Given the description of an element on the screen output the (x, y) to click on. 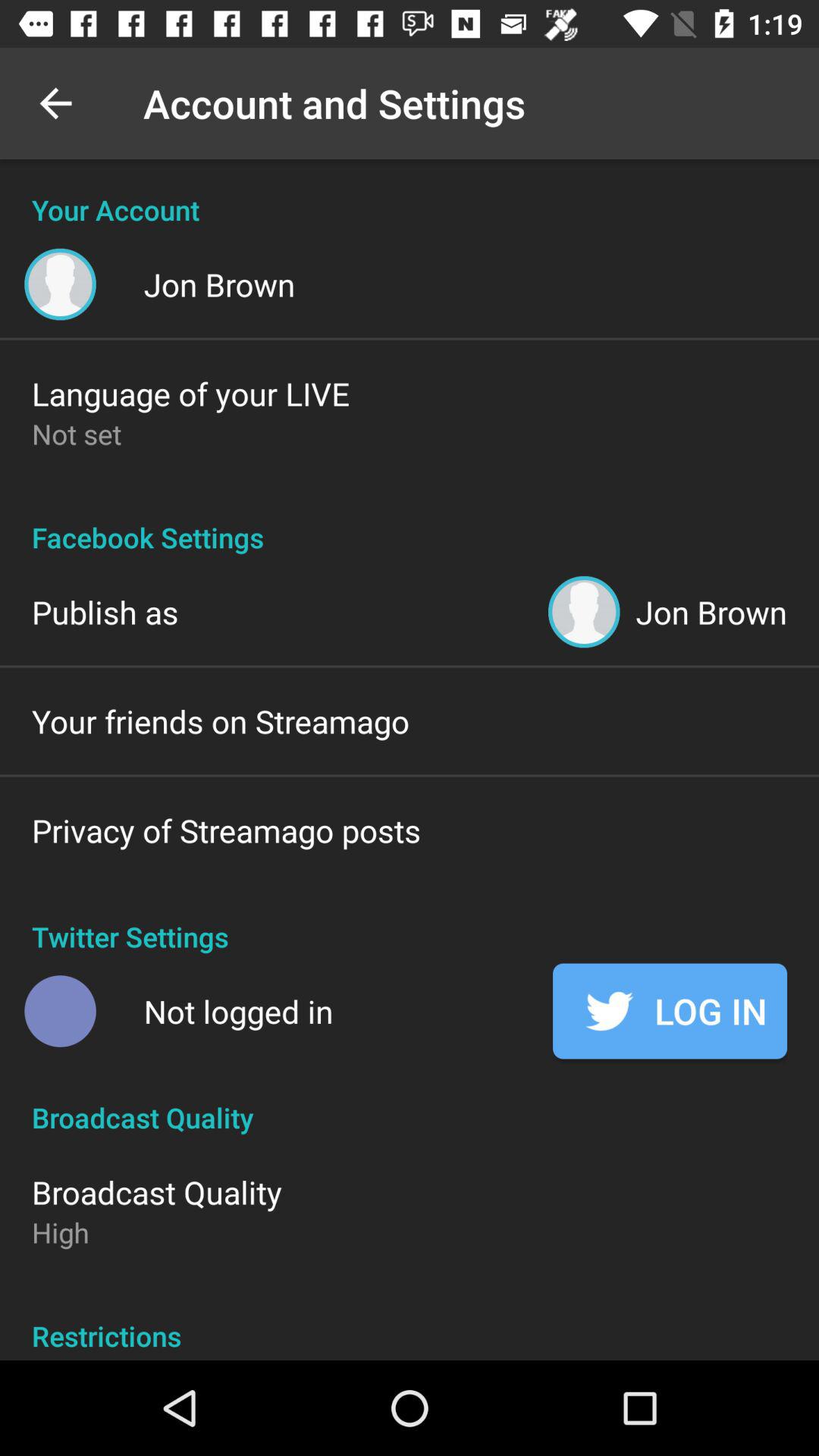
choose publish as (104, 611)
